Given the description of an element on the screen output the (x, y) to click on. 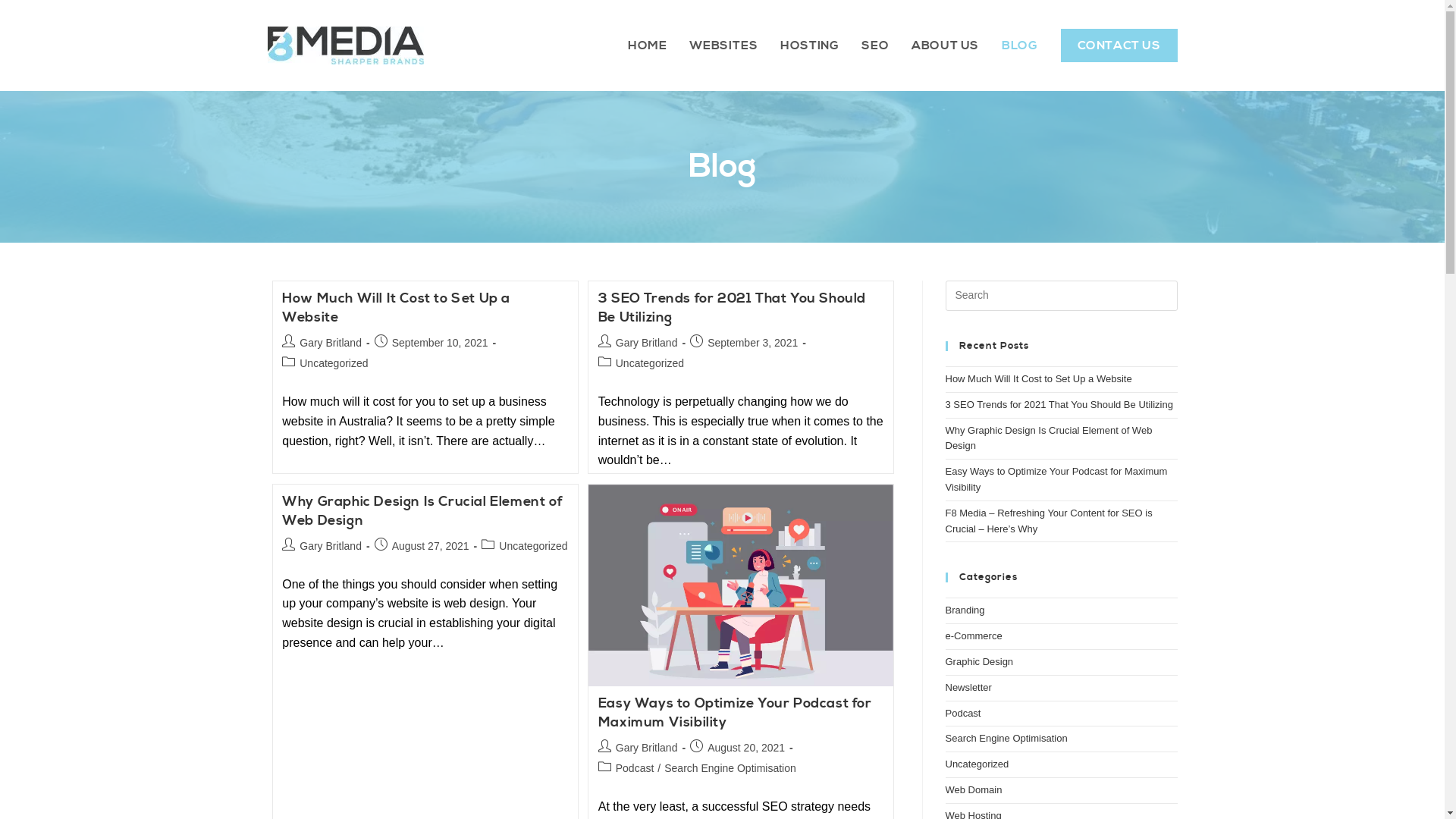
Uncategorized Element type: text (333, 363)
Gary Britland Element type: text (646, 342)
WEBSITES Element type: text (722, 45)
Gary Britland Element type: text (646, 747)
Graphic Design Element type: text (978, 661)
Search Engine Optimisation Element type: text (730, 768)
Search Engine Optimisation Element type: text (1005, 737)
How Much Will It Cost to Set Up a Website Element type: text (1037, 378)
Uncategorized Element type: text (649, 363)
Gary Britland Element type: text (330, 545)
Newsletter Element type: text (967, 687)
Web Domain Element type: text (972, 789)
Branding Element type: text (964, 609)
BLOG Element type: text (1019, 45)
CONTACT US Element type: text (1119, 45)
Gary Britland Element type: text (330, 342)
3 SEO Trends for 2021 That You Should Be Utilizing Element type: text (1058, 404)
Why Graphic Design Is Crucial Element of Web Design Element type: text (422, 510)
Why Graphic Design Is Crucial Element of Web Design Element type: text (1047, 437)
3 SEO Trends for 2021 That You Should Be Utilizing Element type: text (732, 307)
Easy Ways to Optimize Your Podcast for Maximum Visibility Element type: text (735, 712)
HOSTING Element type: text (809, 45)
SEO Element type: text (875, 45)
Uncategorized Element type: text (976, 763)
Podcast Element type: text (962, 712)
ABOUT US Element type: text (945, 45)
How Much Will It Cost to Set Up a Website Element type: text (396, 307)
Podcast Element type: text (634, 768)
e-Commerce Element type: text (972, 635)
Uncategorized Element type: text (532, 545)
HOME Element type: text (646, 45)
Easy Ways to Optimize Your Podcast for Maximum Visibility Element type: text (1055, 478)
